Given the description of an element on the screen output the (x, y) to click on. 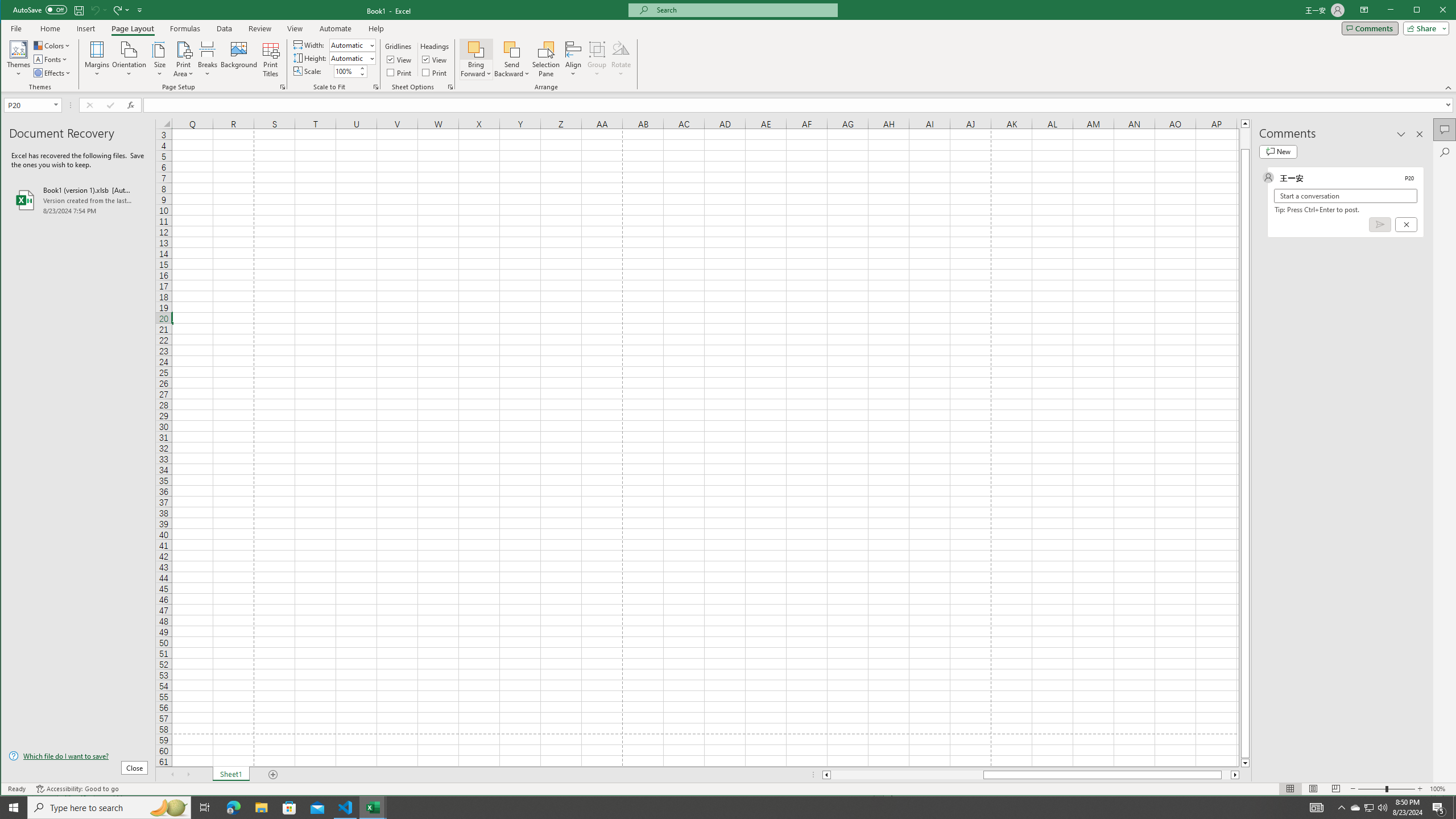
Width (349, 45)
Bring Forward (476, 48)
Search highlights icon opens search home window (1355, 807)
Themes (167, 807)
Background... (18, 59)
New comment (239, 59)
Task View (1278, 151)
Margins (204, 807)
Close pane (96, 59)
